Given the description of an element on the screen output the (x, y) to click on. 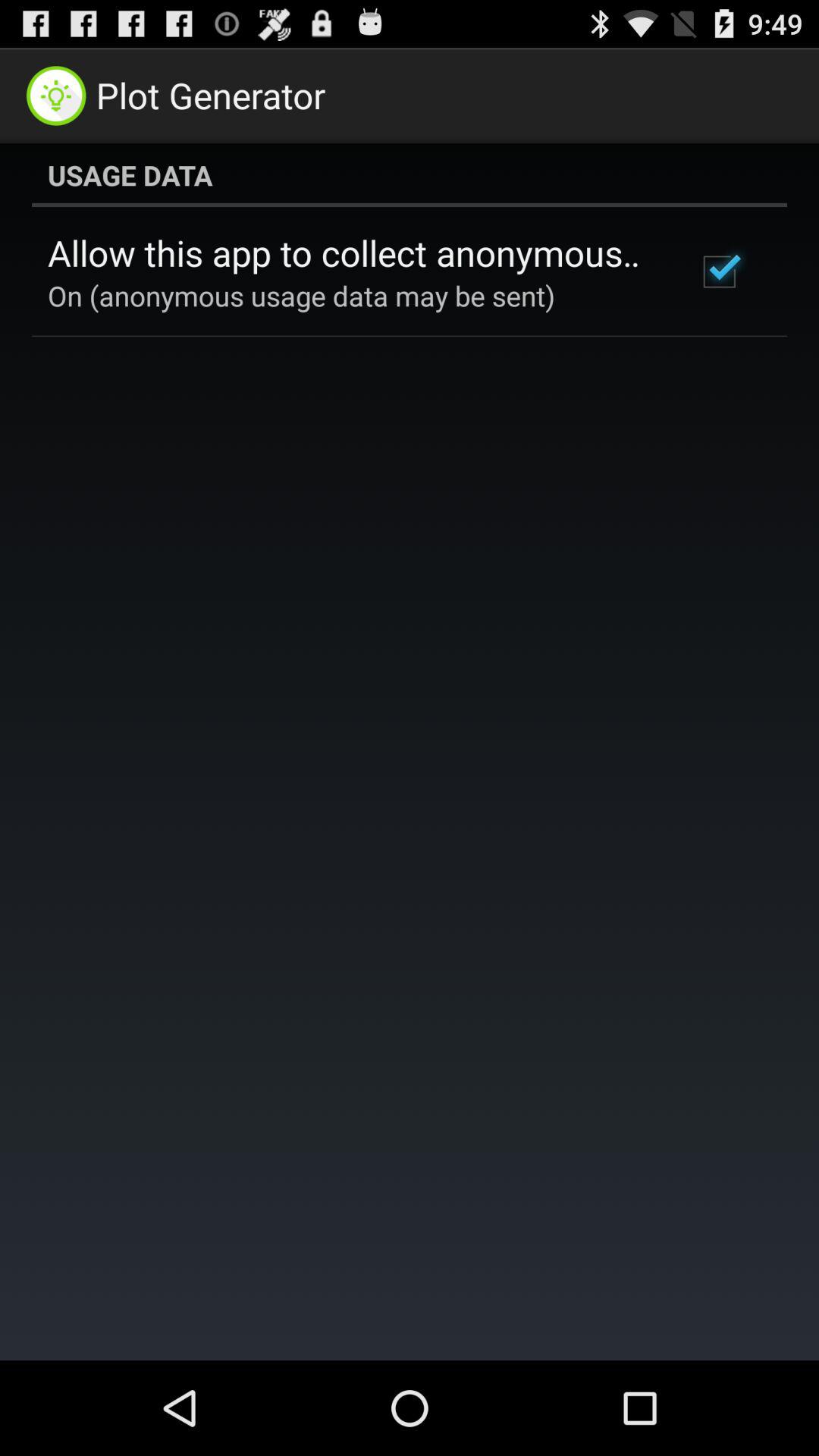
choose the app above the on anonymous usage item (351, 252)
